Given the description of an element on the screen output the (x, y) to click on. 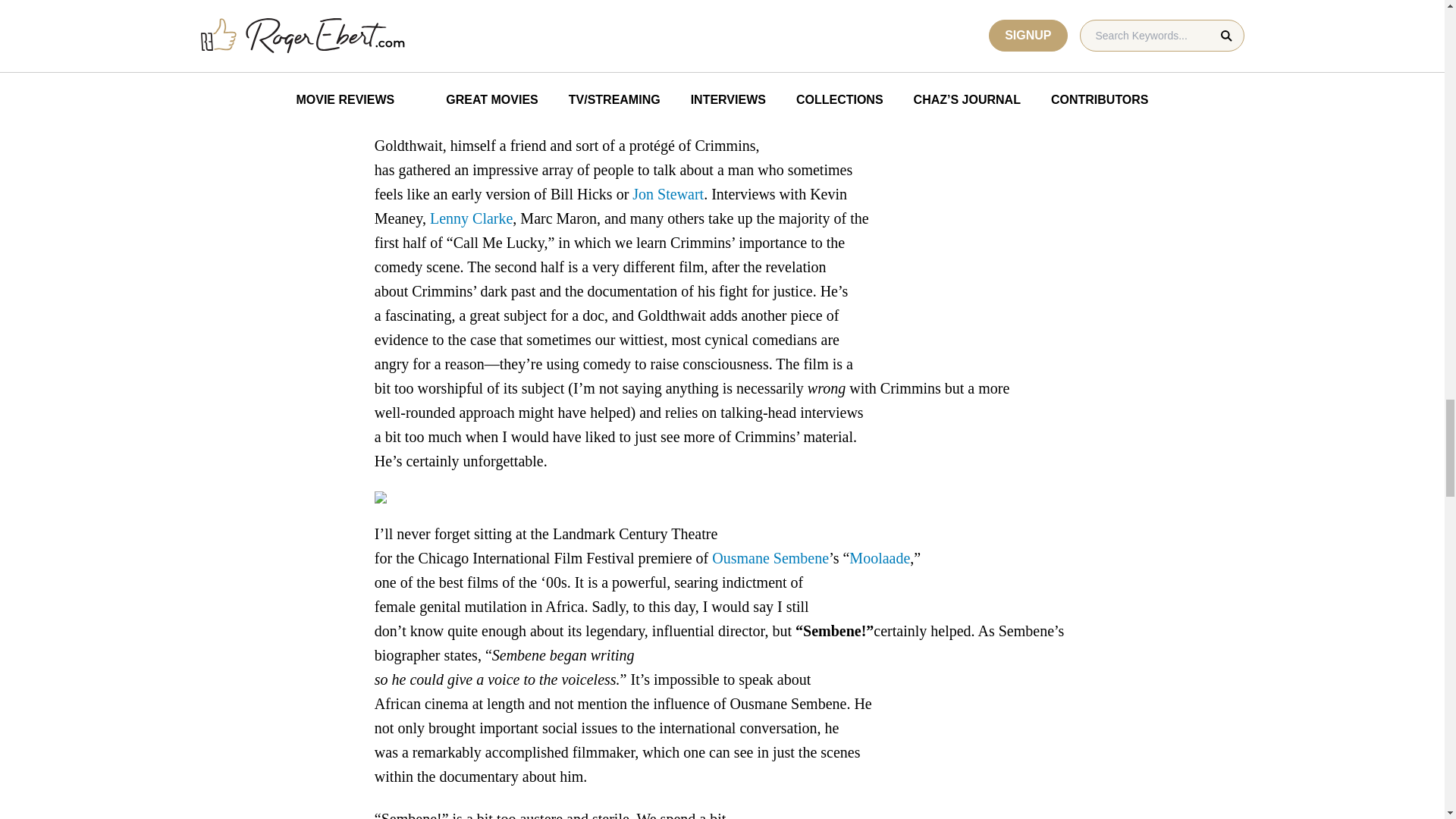
Lenny Clarke (470, 217)
Jon Stewart (667, 193)
Moolaade (879, 557)
Ousmane Sembene (769, 557)
